Given the description of an element on the screen output the (x, y) to click on. 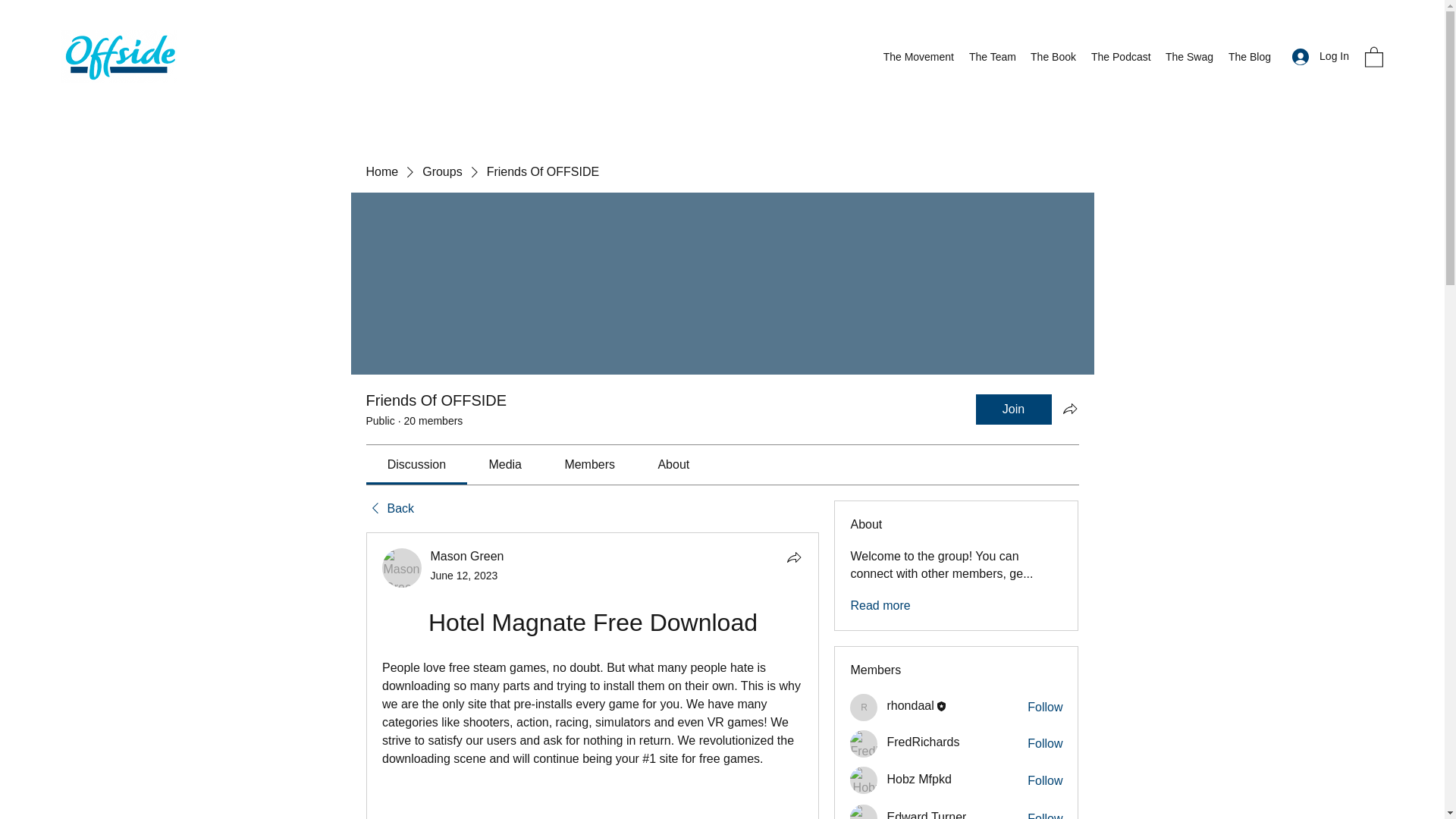
The Podcast (1120, 56)
The Blog (1249, 56)
Hobz Mfpkd (863, 779)
Groups (441, 171)
rhondaal (909, 705)
FredRichards (863, 743)
The Team (991, 56)
Join (1013, 409)
Home (381, 171)
Log In (1320, 56)
Edward Turner (863, 811)
The Swag (1188, 56)
Mason Green (401, 567)
The Book (1053, 56)
The Movement (917, 56)
